Given the description of an element on the screen output the (x, y) to click on. 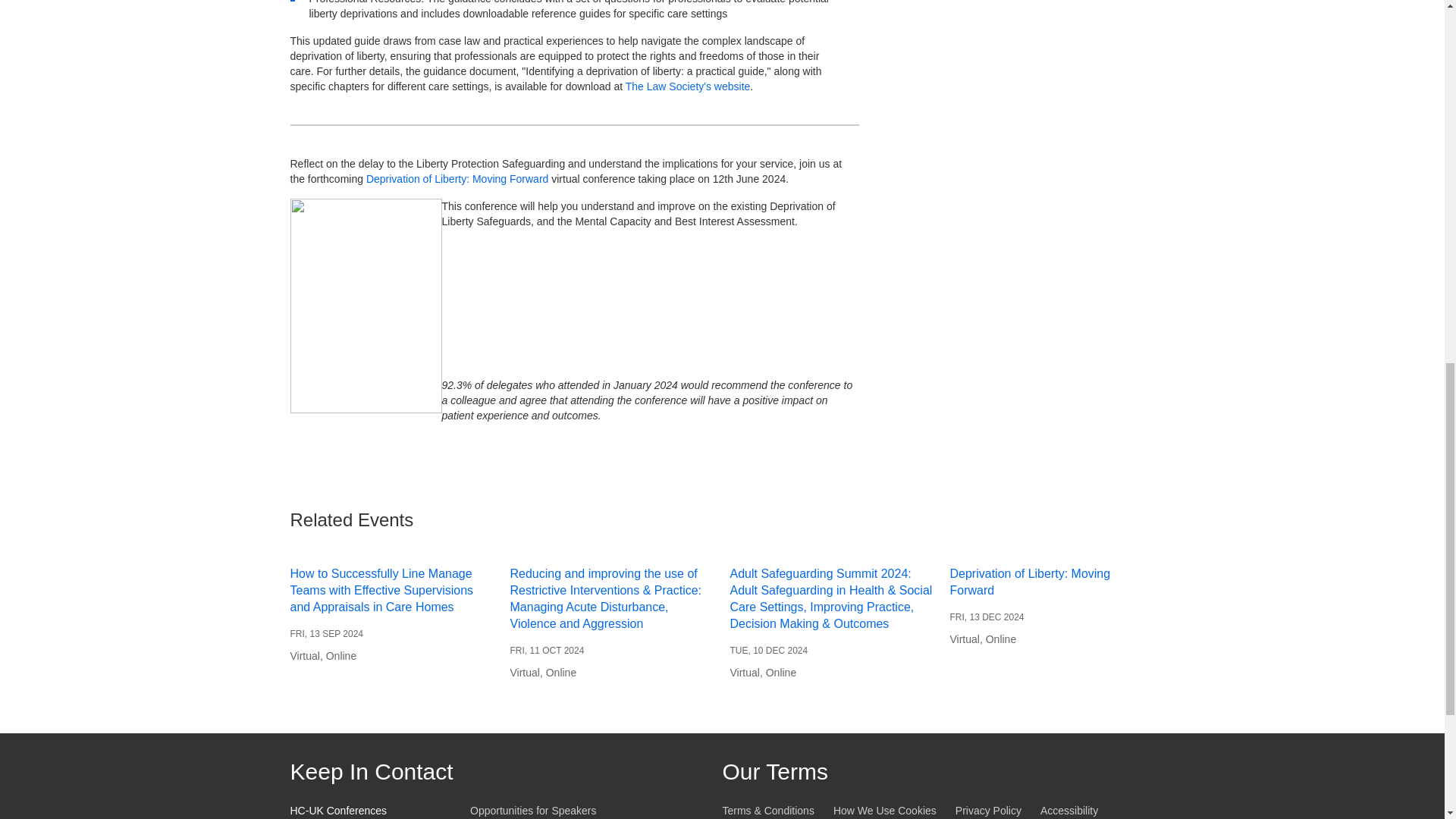
The Law Society's website (688, 86)
Deprivation of Liberty: Moving Forward (457, 178)
